Given the description of an element on the screen output the (x, y) to click on. 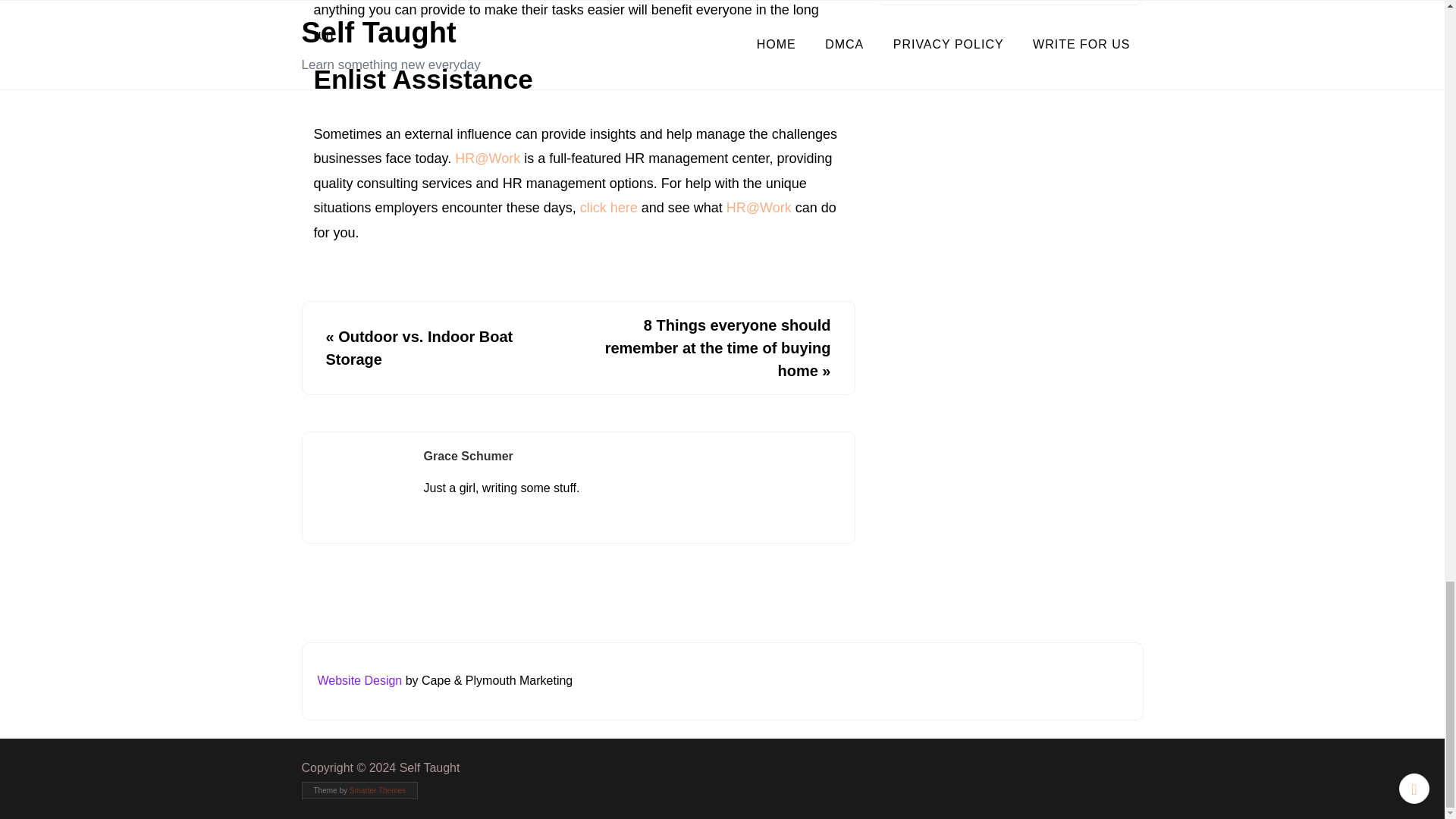
8 Things everyone should remember at the time of buying home (718, 347)
click here (608, 207)
Outdoor vs. Indoor Boat Storage (419, 347)
